Given the description of an element on the screen output the (x, y) to click on. 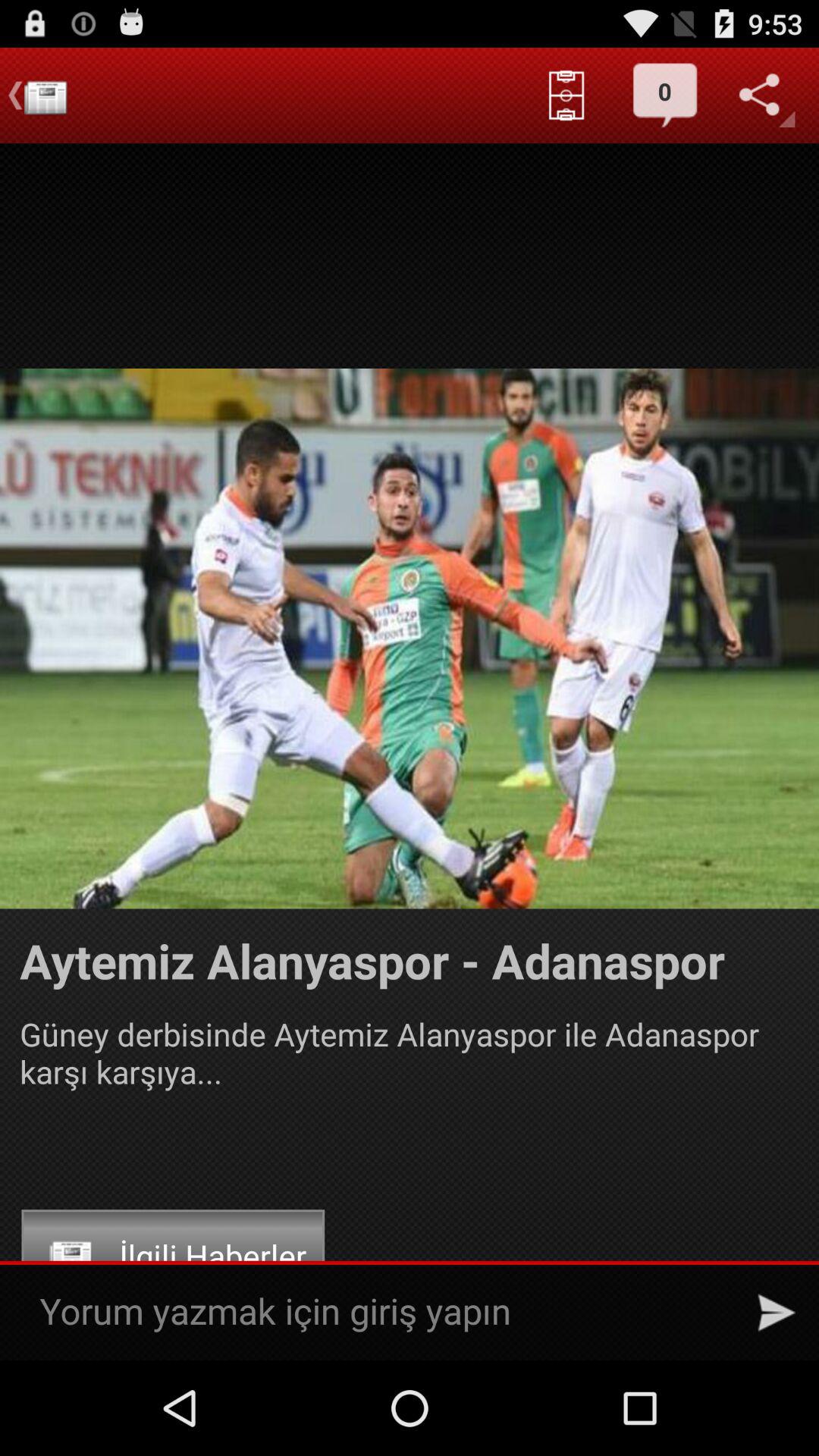
turn on the icon at the bottom right corner (776, 1312)
